Given the description of an element on the screen output the (x, y) to click on. 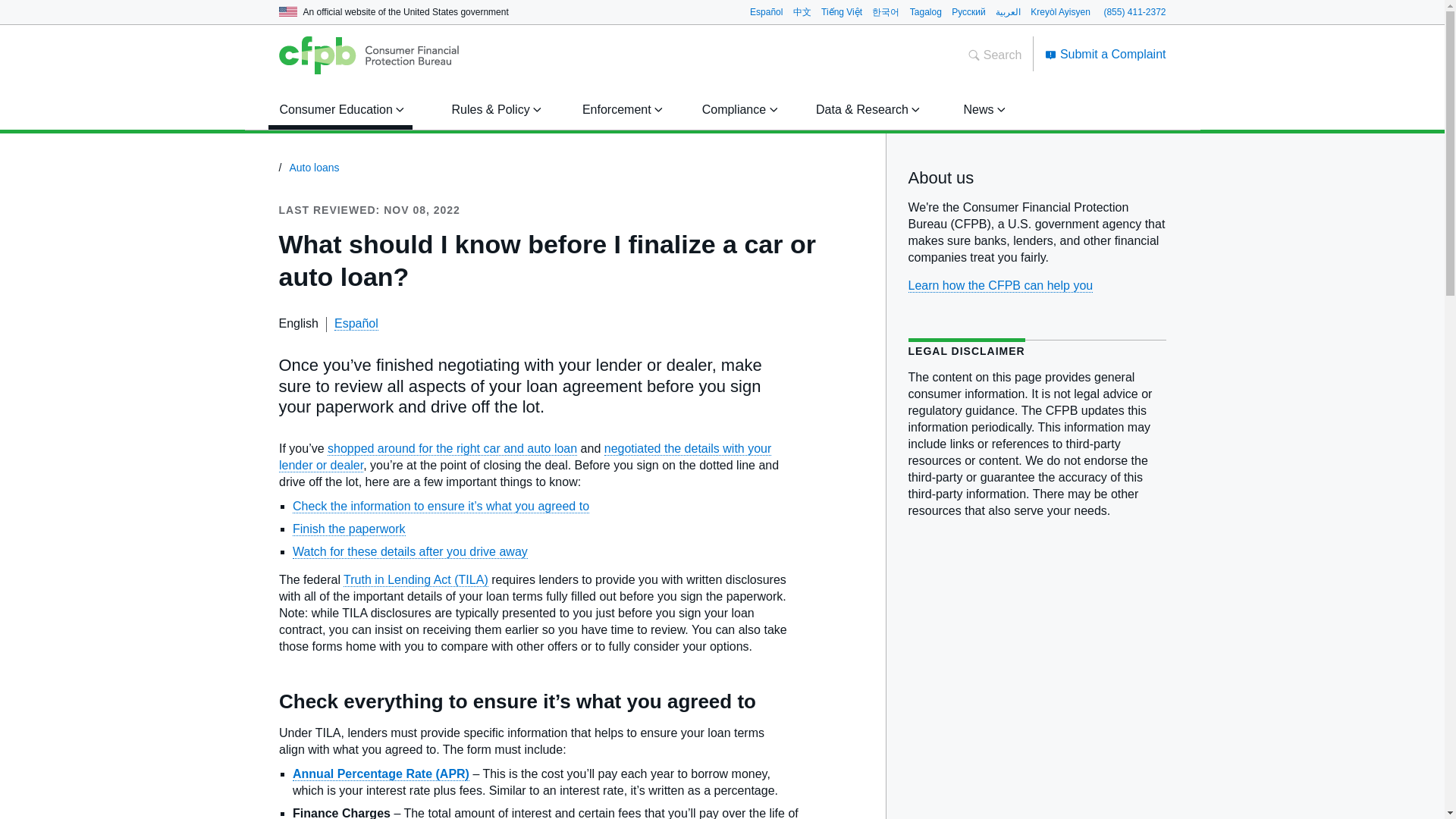
Search (995, 54)
Tagalog (926, 10)
Submit a Complaint (1105, 52)
Consumer Education (339, 109)
